Given the description of an element on the screen output the (x, y) to click on. 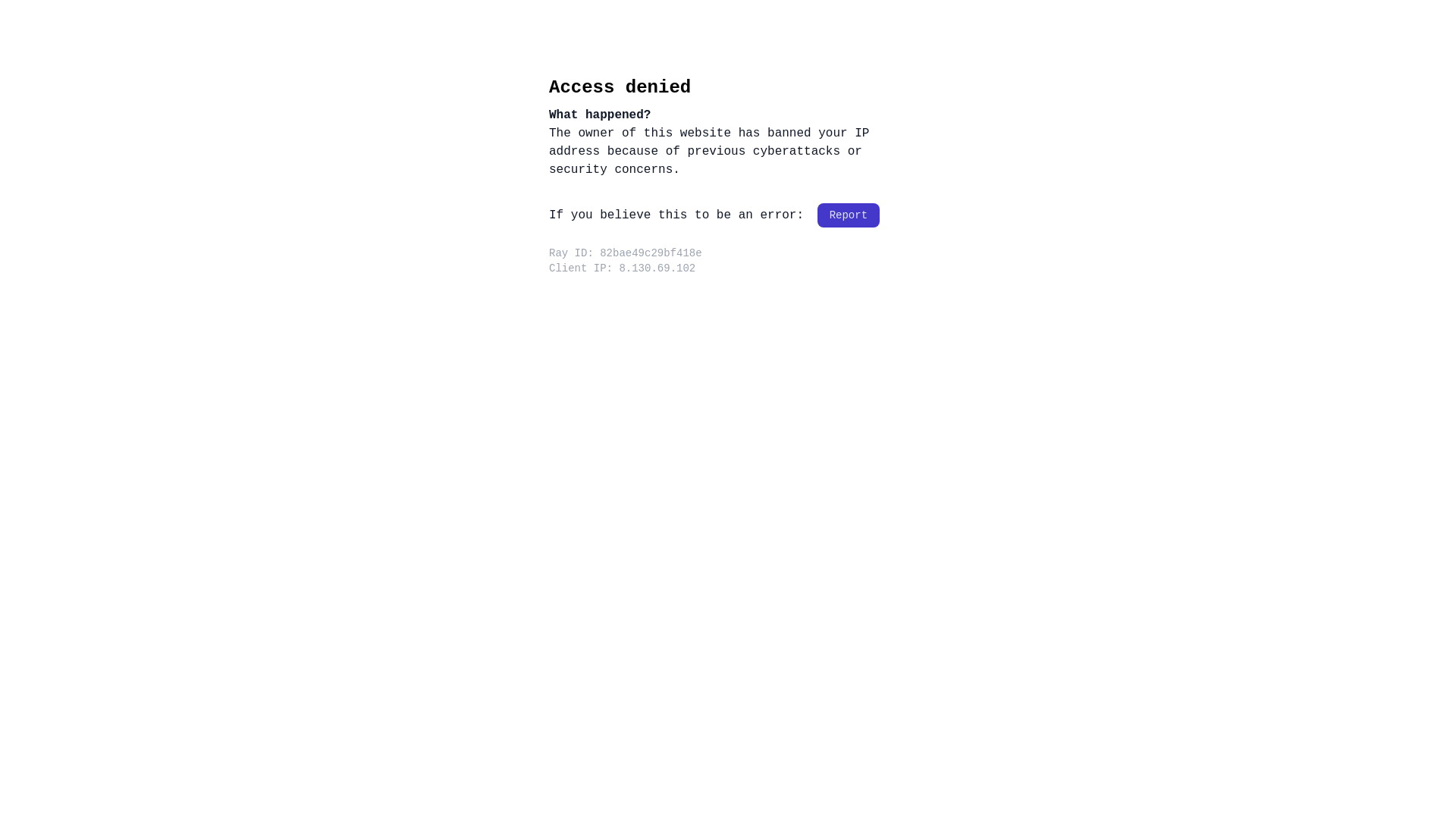
Report Element type: text (848, 215)
